Given the description of an element on the screen output the (x, y) to click on. 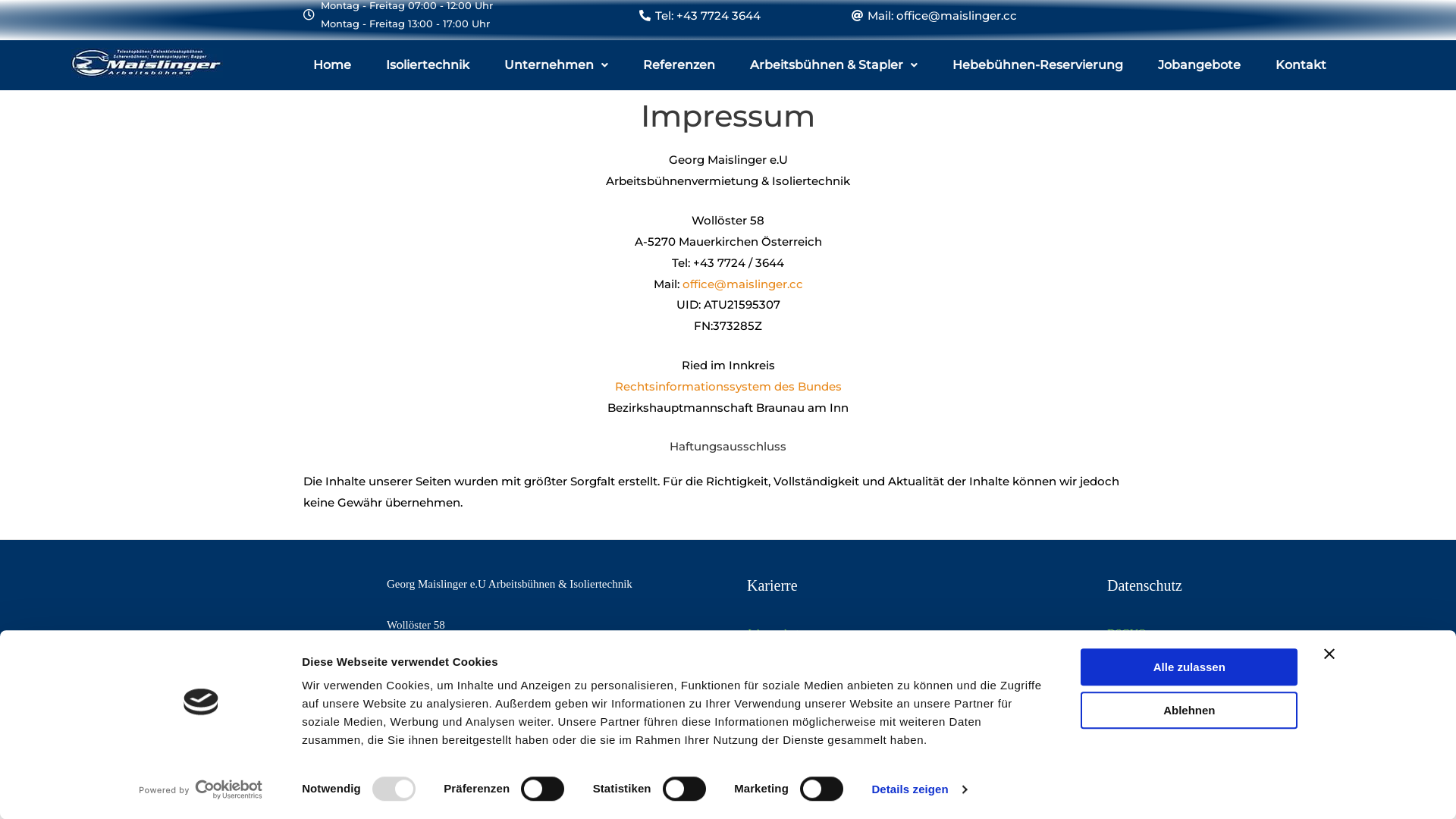
Impressum Element type: text (1132, 654)
Jobangebote Element type: text (1199, 64)
Unternehmen Element type: text (555, 64)
Isoliertechnik Element type: text (427, 64)
office@maislinger.cc Element type: text (434, 708)
Home Element type: text (331, 64)
office@maislinger.cc Element type: text (742, 283)
Referenzen Element type: text (678, 64)
Kontakt Element type: text (1300, 64)
Alle zulassen Element type: text (1188, 666)
Mail: office@maislinger.cc Element type: text (941, 15)
Ablehnen Element type: text (1188, 709)
Rechtsinformationssystem des Bundes Element type: text (727, 386)
Jobangebote Element type: text (774, 633)
DSGVO Element type: text (1126, 633)
Details zeigen Element type: text (918, 789)
